Given the description of an element on the screen output the (x, y) to click on. 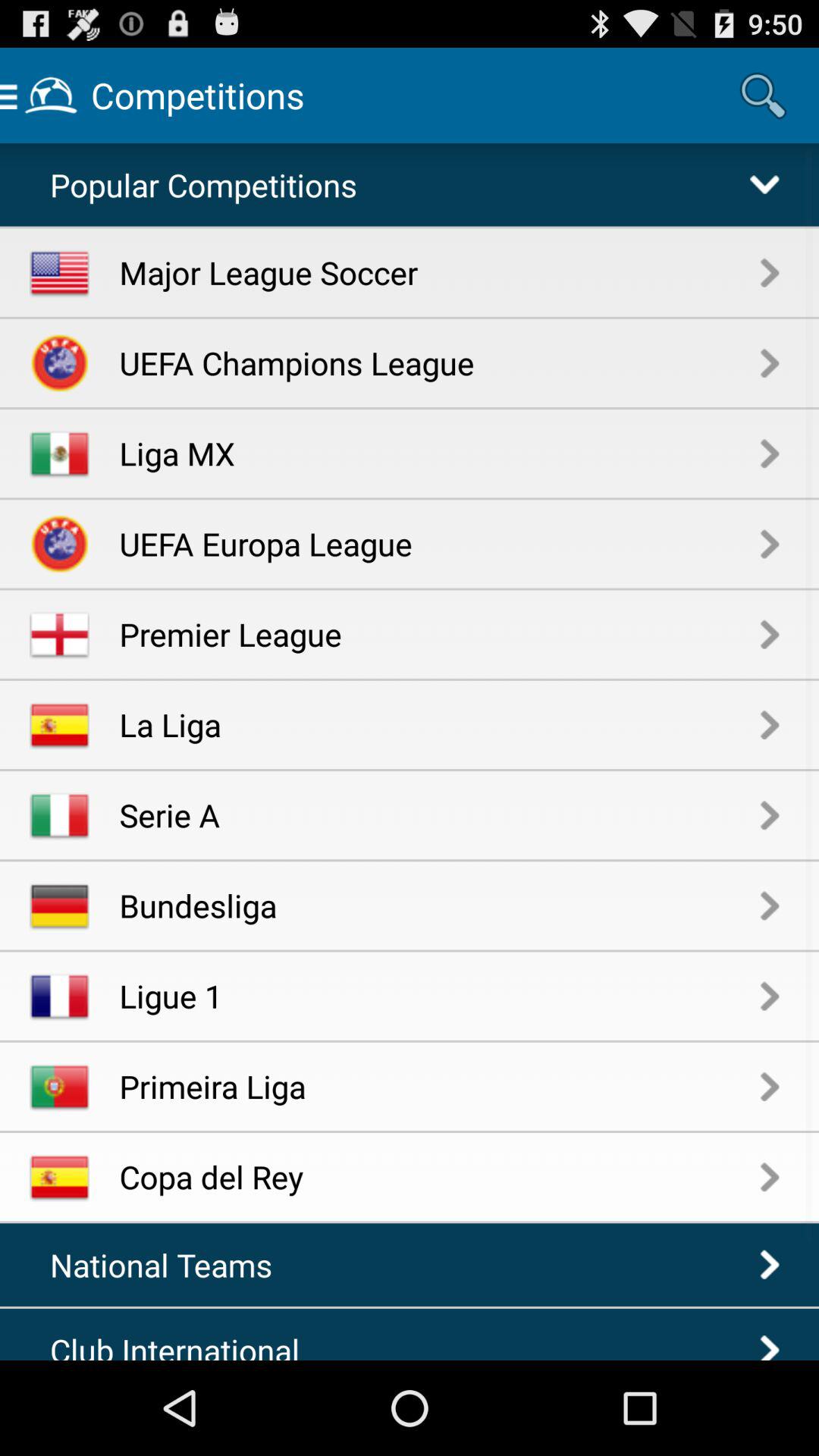
select the app above the serie a (439, 724)
